Given the description of an element on the screen output the (x, y) to click on. 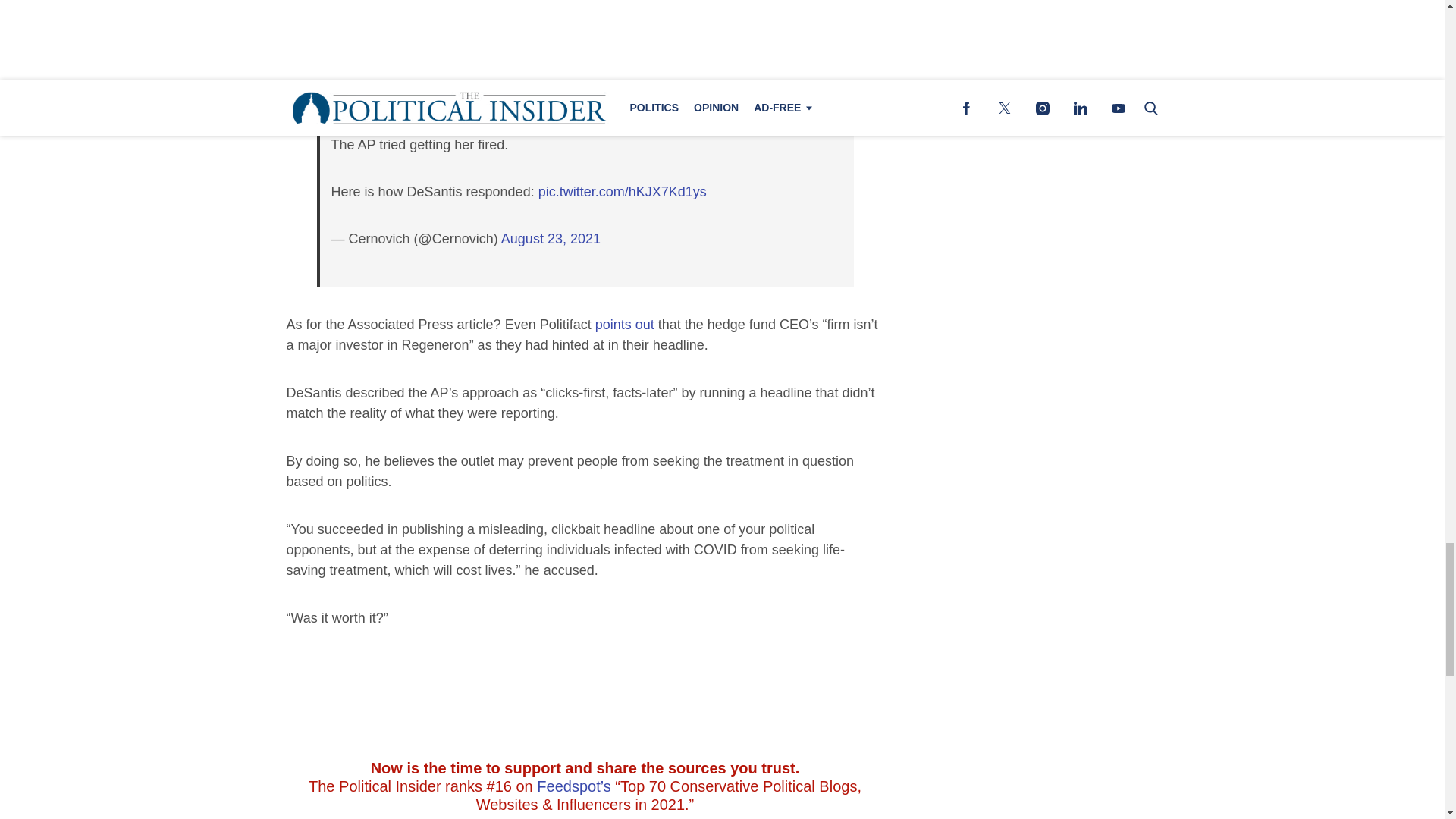
August 23, 2021 (549, 238)
points out (624, 324)
